Given the description of an element on the screen output the (x, y) to click on. 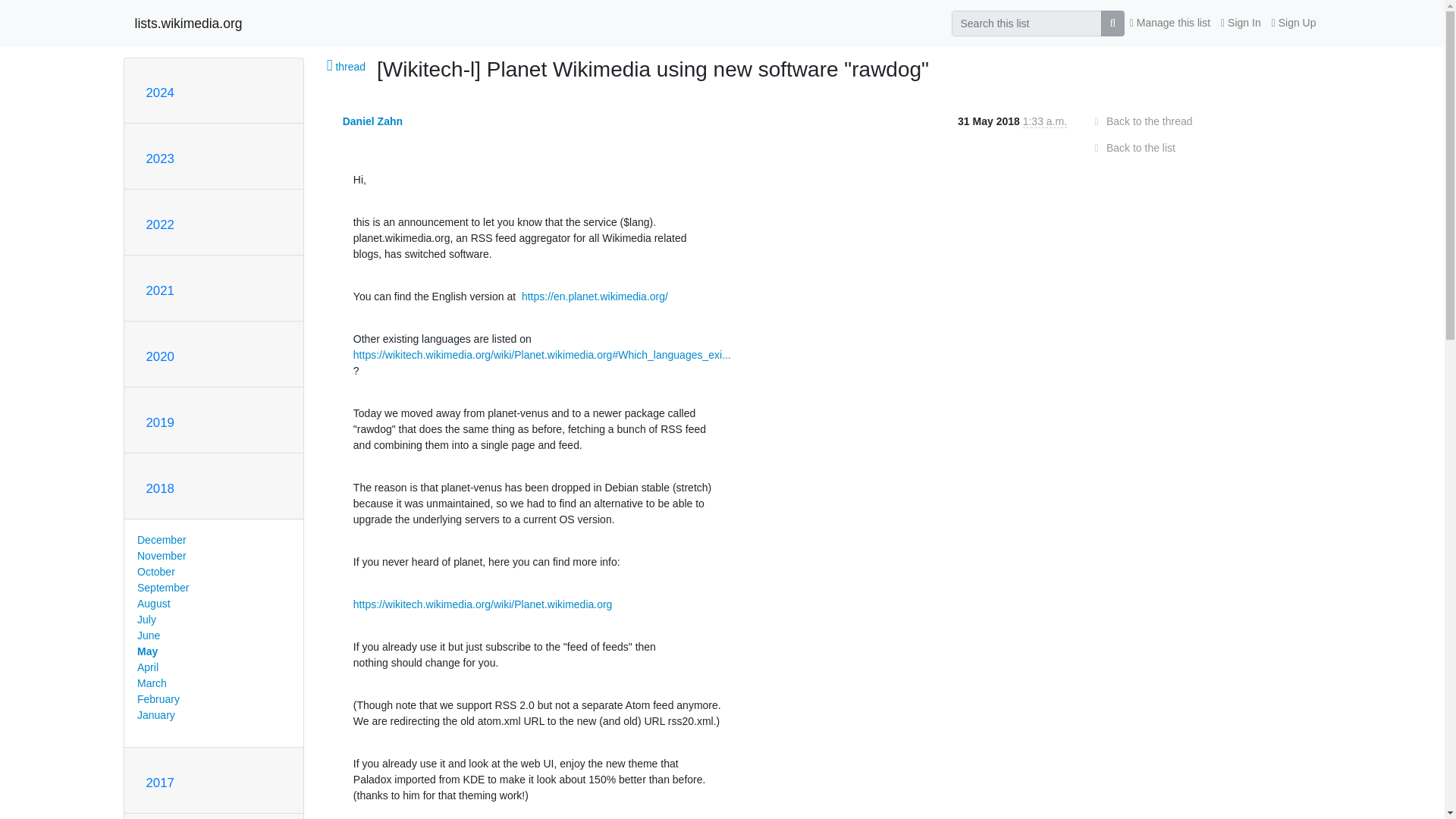
2022 (159, 224)
2023 (159, 158)
2024 (159, 92)
lists.wikimedia.org (189, 22)
Sender's time: May 30, 2018, 6:33 p.m. (1045, 121)
Manage this list (1169, 22)
Sign Up (1294, 22)
See the profile for Daniel Zahn (372, 121)
Sign In (1240, 22)
